Given the description of an element on the screen output the (x, y) to click on. 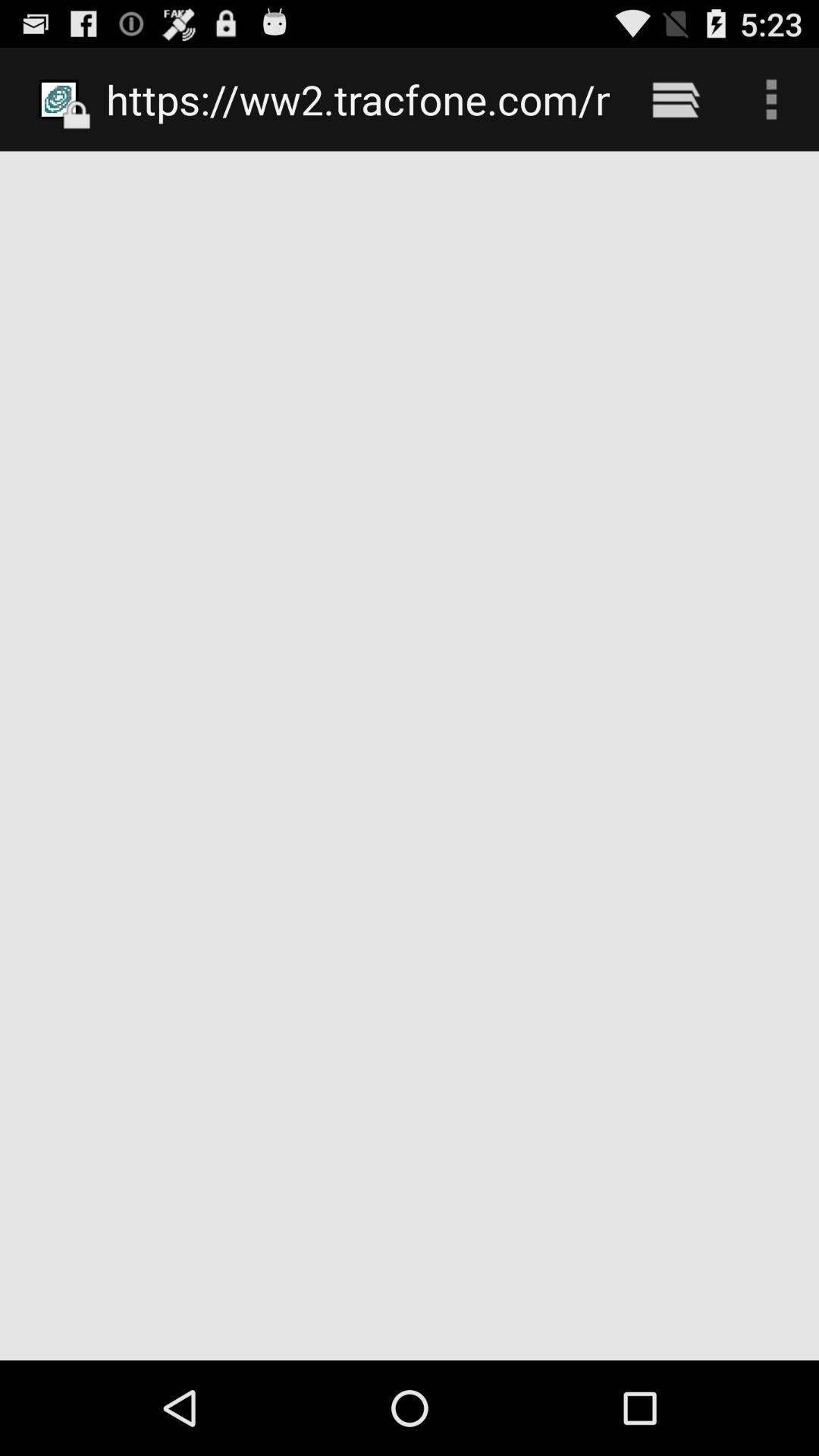
select the https ww2 tracfone item (357, 99)
